Given the description of an element on the screen output the (x, y) to click on. 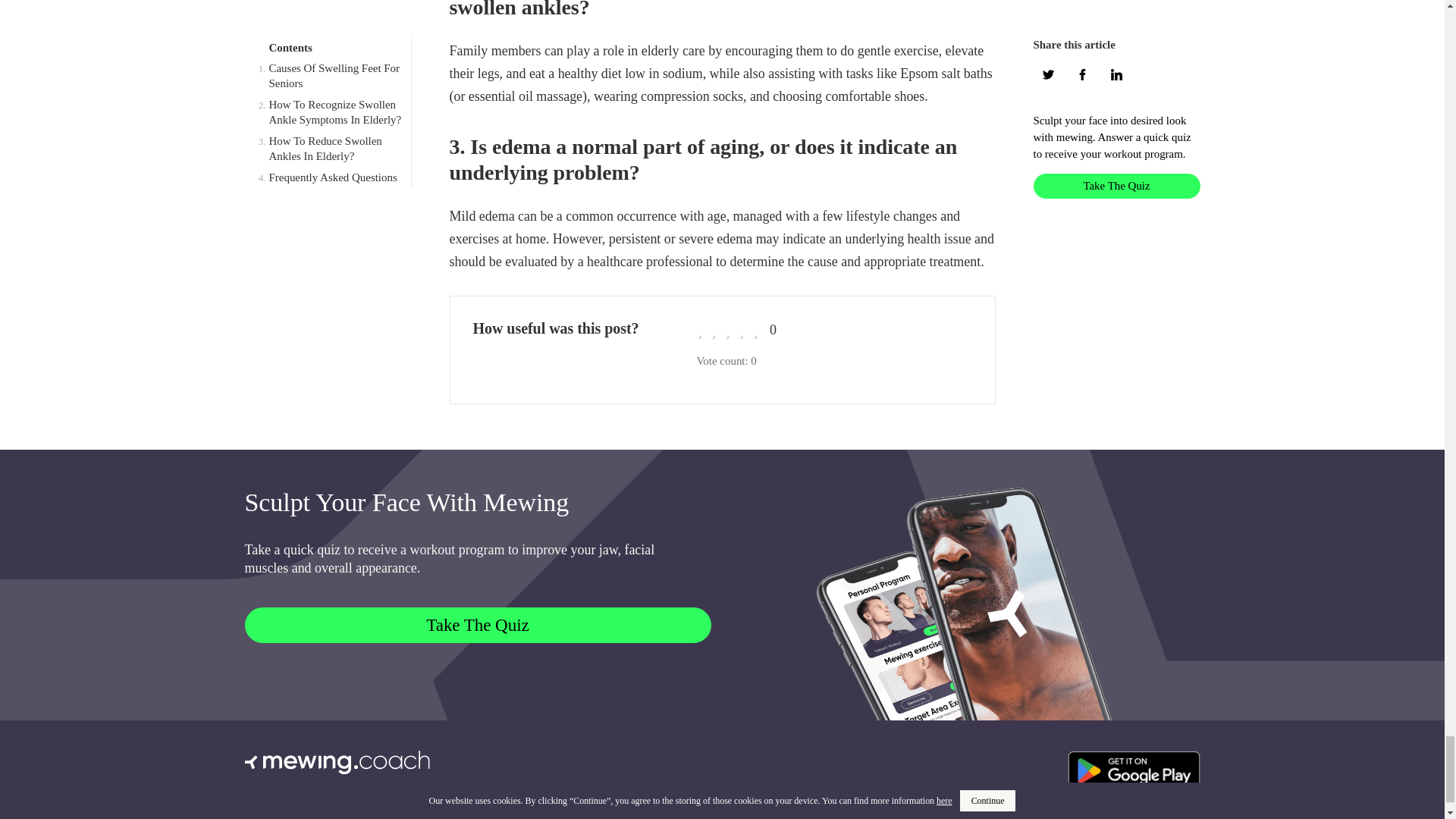
Terms and conditions (292, 805)
Take The Quiz (477, 624)
